Given the description of an element on the screen output the (x, y) to click on. 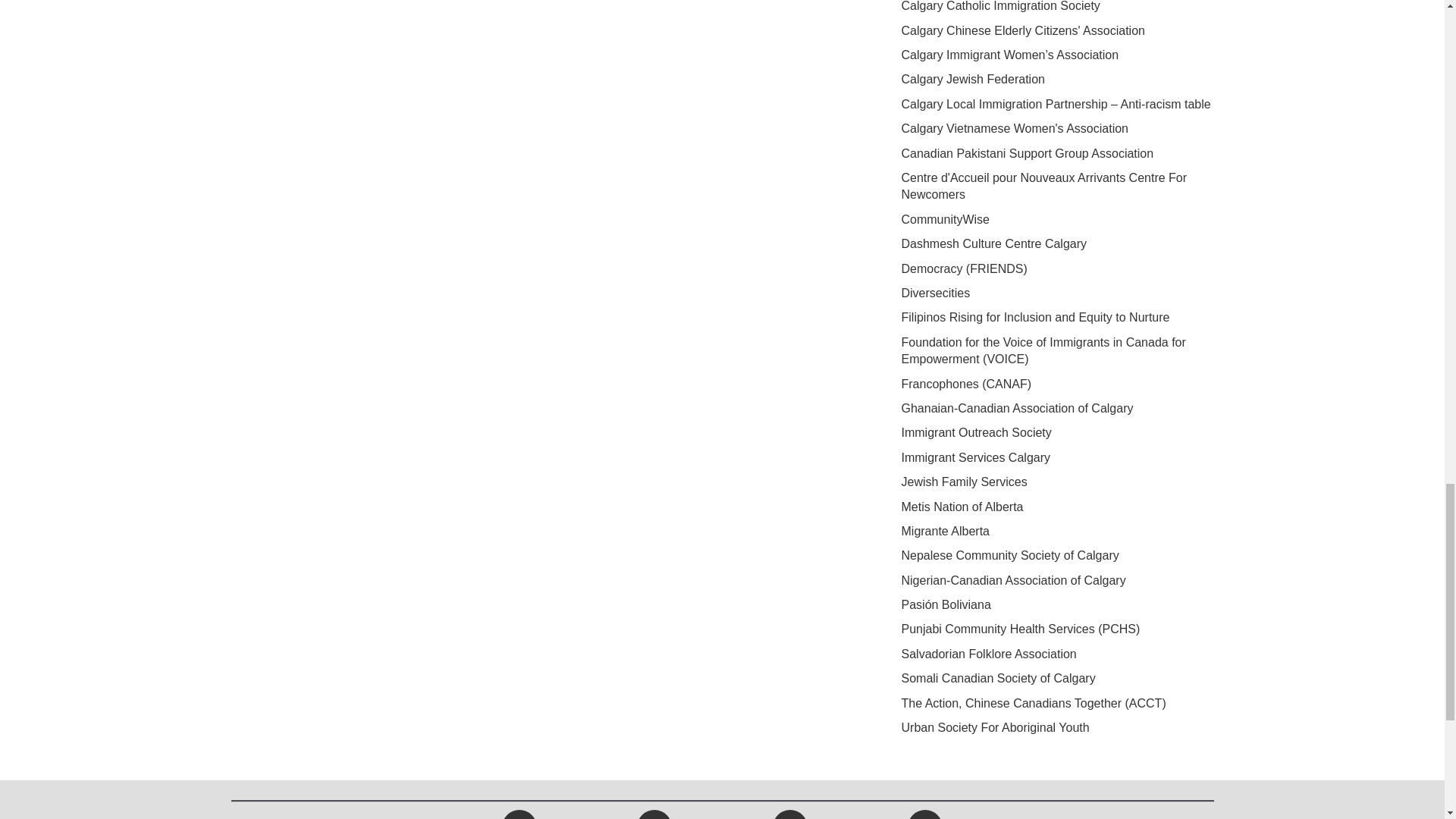
Facebook (518, 815)
X (654, 815)
LinkedIn (924, 815)
Youtube (789, 815)
